Given the description of an element on the screen output the (x, y) to click on. 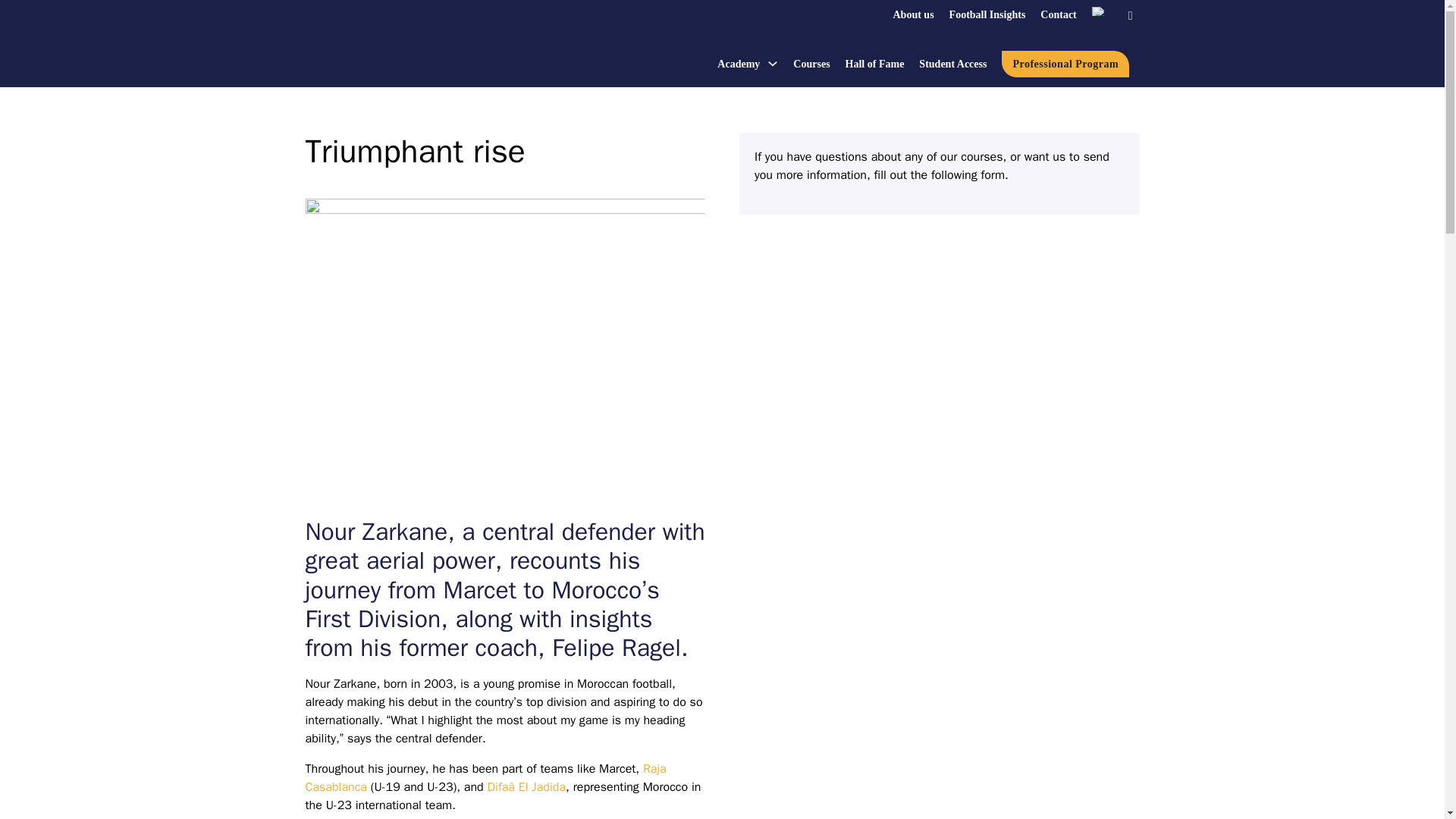
Hall of Fame (874, 64)
Academy (738, 64)
About us (913, 14)
Courses (811, 64)
Professional Program (1065, 63)
Student Access (952, 64)
Football Insights (987, 14)
Contact (1058, 14)
